Given the description of an element on the screen output the (x, y) to click on. 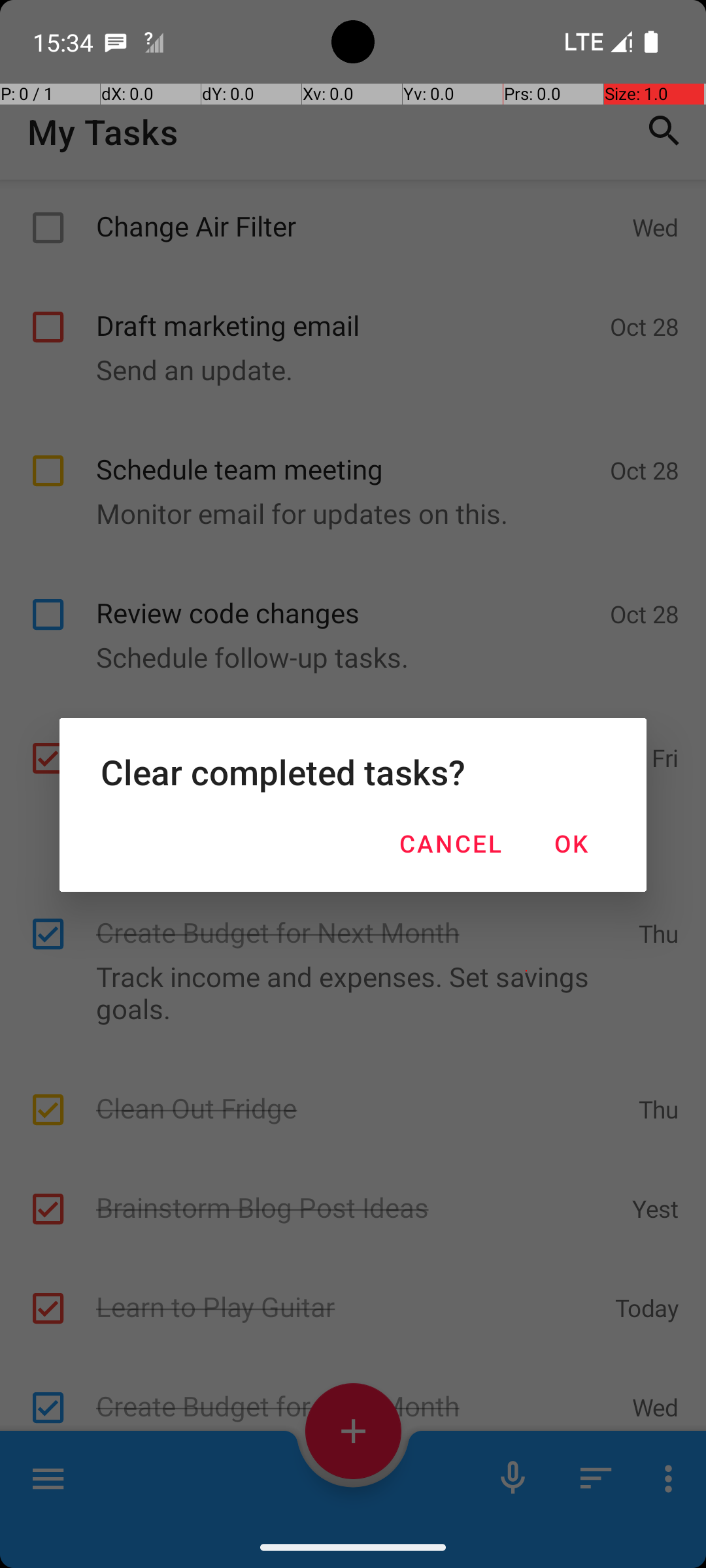
Clear completed tasks? Element type: android.widget.TextView (352, 771)
